Given the description of an element on the screen output the (x, y) to click on. 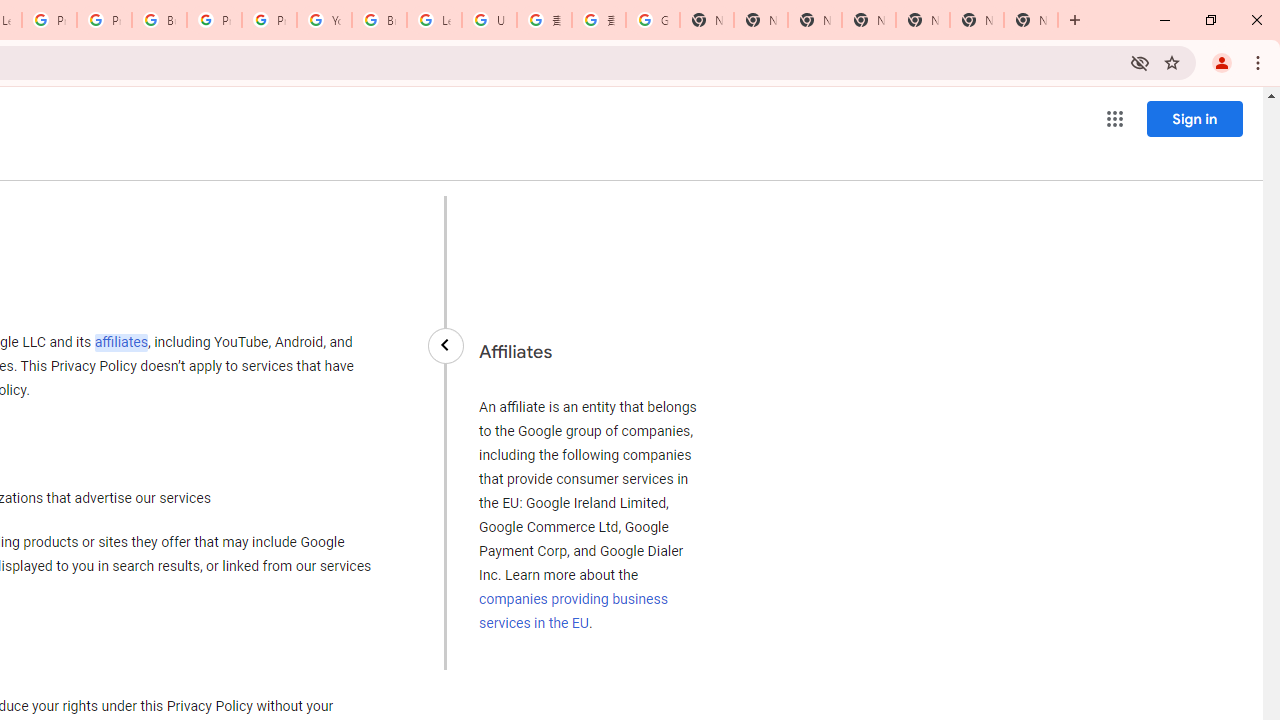
affiliates (120, 342)
